Given the description of an element on the screen output the (x, y) to click on. 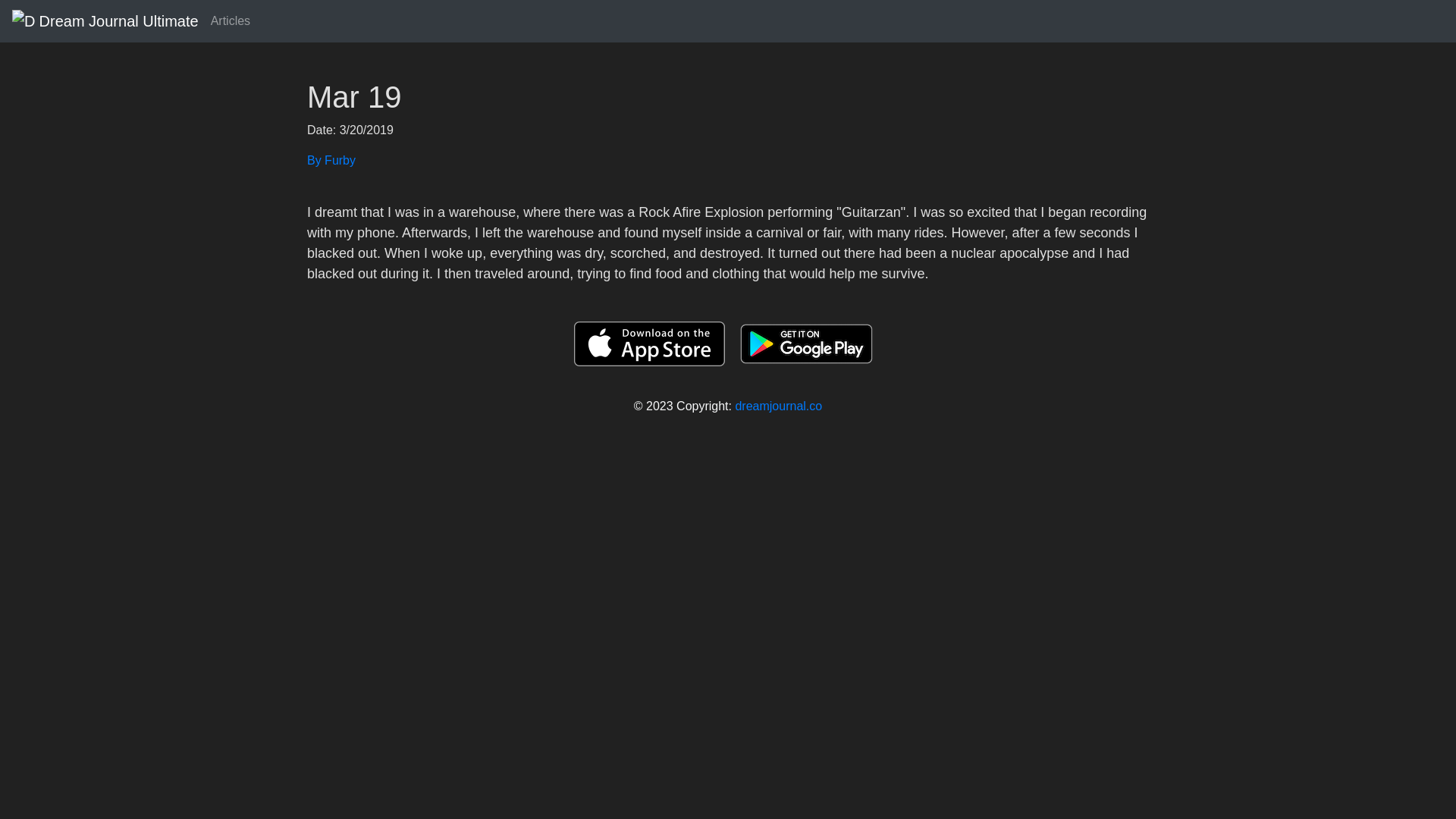
Articles (230, 20)
Dream Journal Ultimate (104, 20)
By Furby (727, 160)
dreamjournal.co (778, 405)
